Given the description of an element on the screen output the (x, y) to click on. 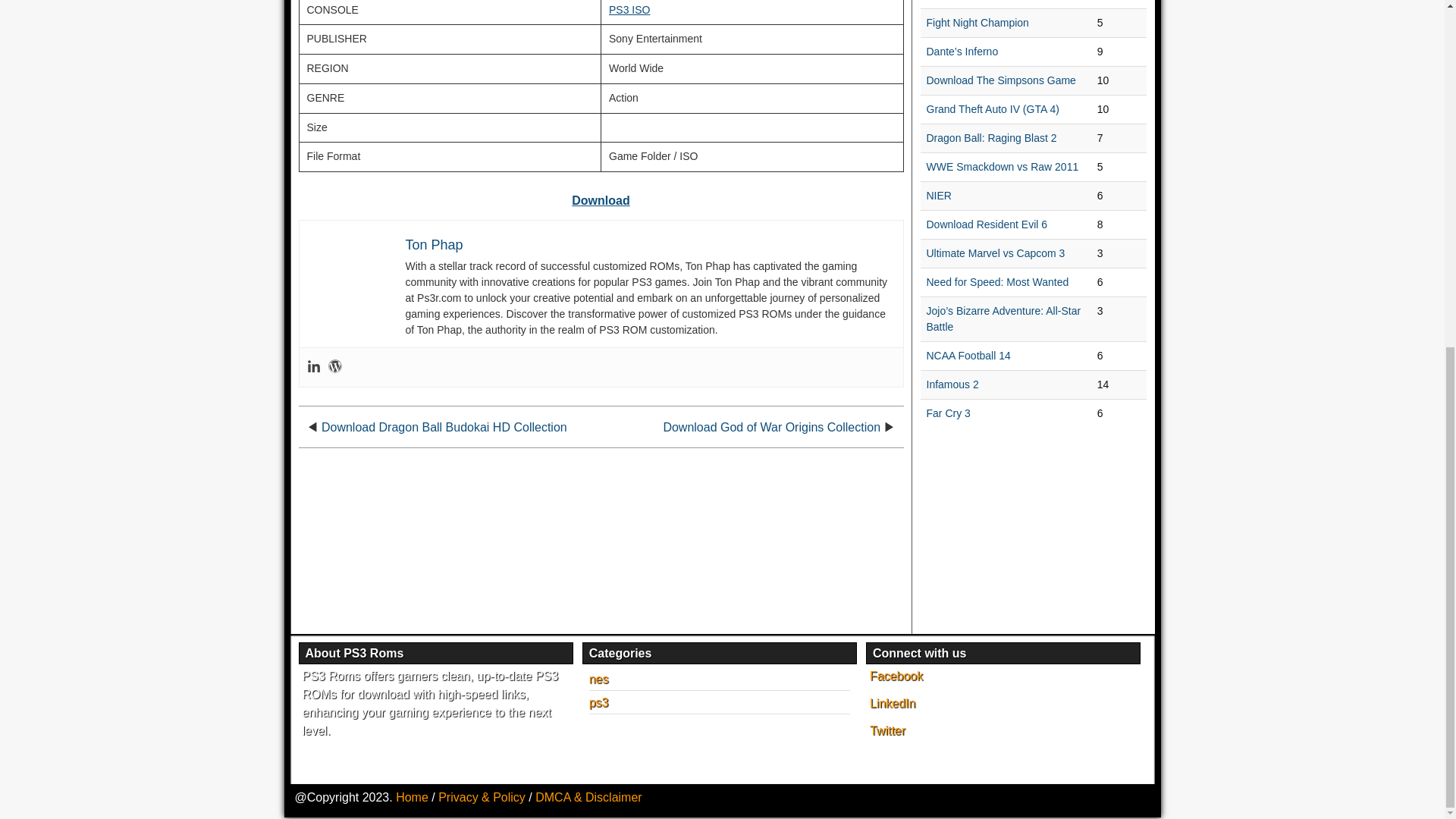
Ton Phap (433, 244)
Download Dragon Ball Budokai HD Collection (444, 427)
Ultimate Marvel vs Capcom 3 (995, 253)
Download Resident Evil 6 (987, 224)
Linkedin (312, 367)
Fight Night Champion (977, 22)
Need for Speed: Most Wanted (997, 282)
Dragon Ball: Raging Blast 2 (991, 137)
Download God of War Origins Collection (771, 427)
NIER (939, 195)
Download (600, 200)
Download The Simpsons Game (1000, 80)
WWE Smackdown vs Raw 2011 (1002, 166)
Wordpress (333, 367)
PS3 ISO (628, 9)
